Given the description of an element on the screen output the (x, y) to click on. 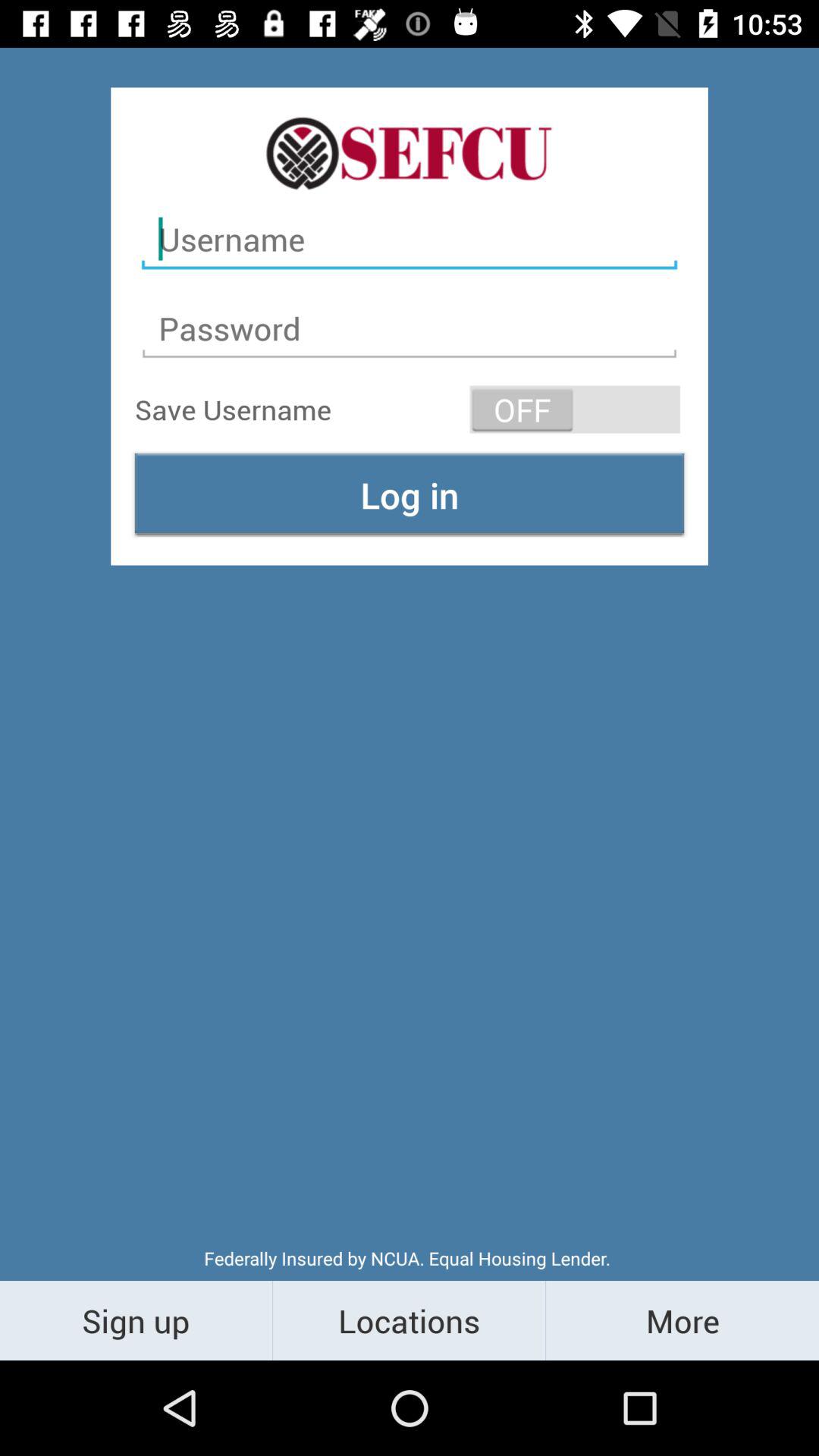
jump until the more (682, 1320)
